Given the description of an element on the screen output the (x, y) to click on. 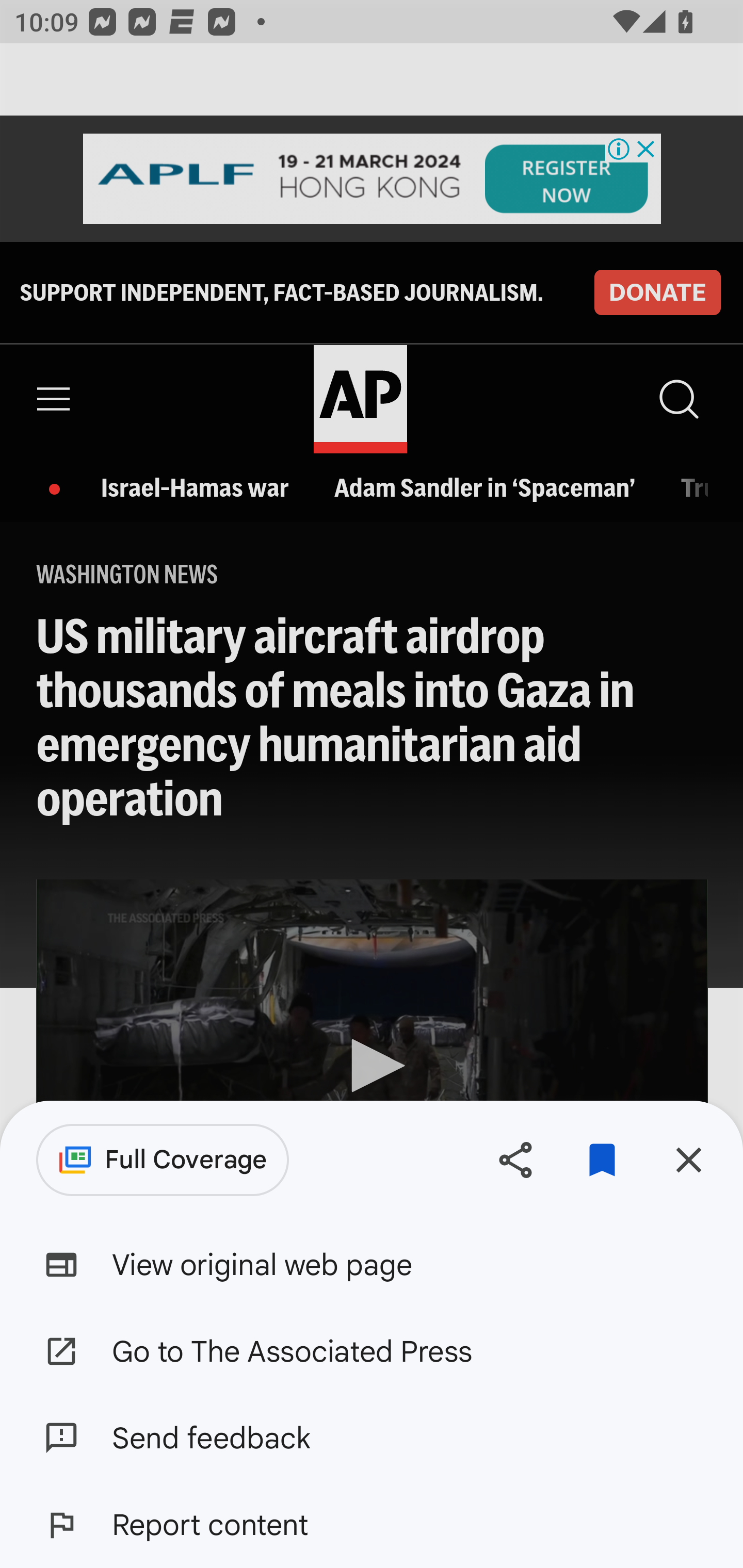
DONATE (657, 291)
home page AP Logo (359, 398)
Menu (54, 398)
Show Search (677, 398)
Israel-Hamas war (200, 487)
Adam Sandler in ‘Spaceman’ (489, 487)
Play (372, 1066)
Share (514, 1159)
Remove from saved stories (601, 1159)
Close (688, 1159)
Full Coverage (162, 1160)
View original web page (371, 1264)
Go to The Associated Press (371, 1350)
Send feedback (371, 1437)
Report content (371, 1524)
